Given the description of an element on the screen output the (x, y) to click on. 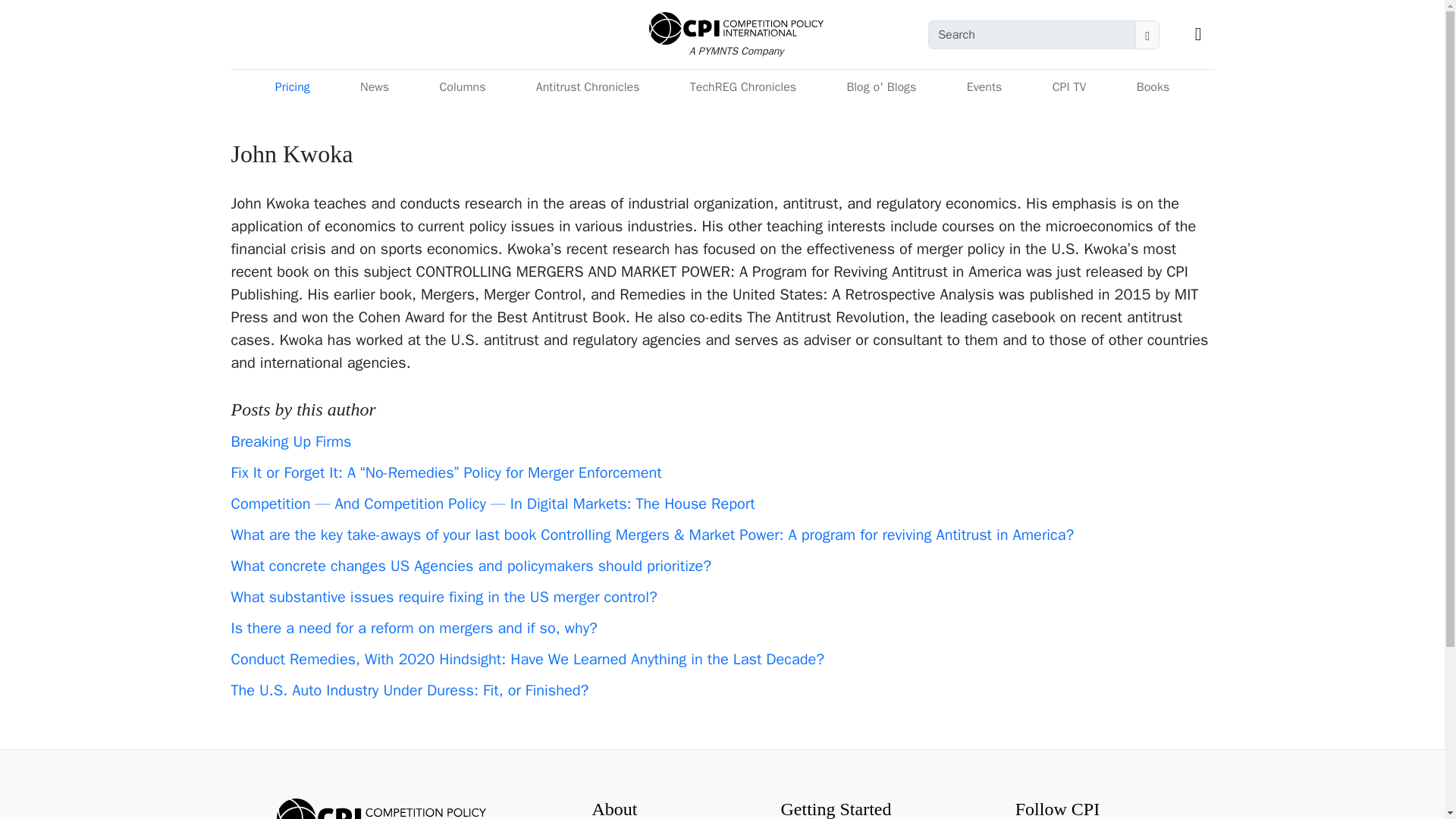
CPI TV (1069, 87)
Breaking Up Firms (290, 441)
TechREG Chronicles (743, 87)
Blog o' Blogs (880, 87)
Pricing (292, 87)
The U.S. Auto Industry Under Duress: Fit, or Finished? (409, 690)
Events (984, 87)
News (373, 87)
Books (1152, 87)
Antitrust Chronicles (587, 87)
